Given the description of an element on the screen output the (x, y) to click on. 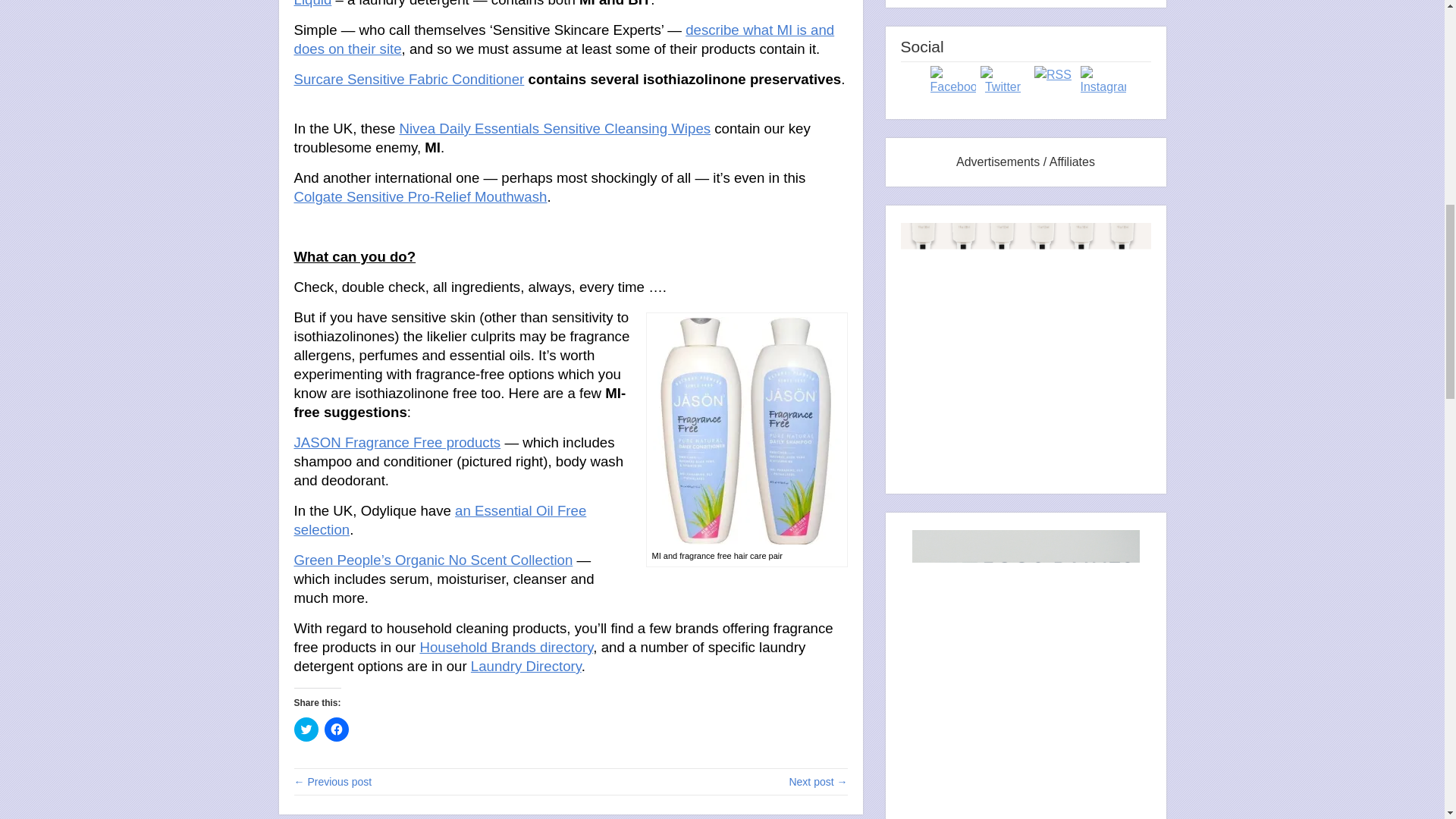
Click to share on Facebook (336, 729)
What is alpha isomethyl ionone - and is it safe? (818, 781)
RSS (1052, 75)
Facebook (952, 81)
Twitter (1002, 81)
Instagram (1102, 81)
Click to share on Twitter (306, 729)
Natural cleaning products by Alma Win (333, 781)
